Given the description of an element on the screen output the (x, y) to click on. 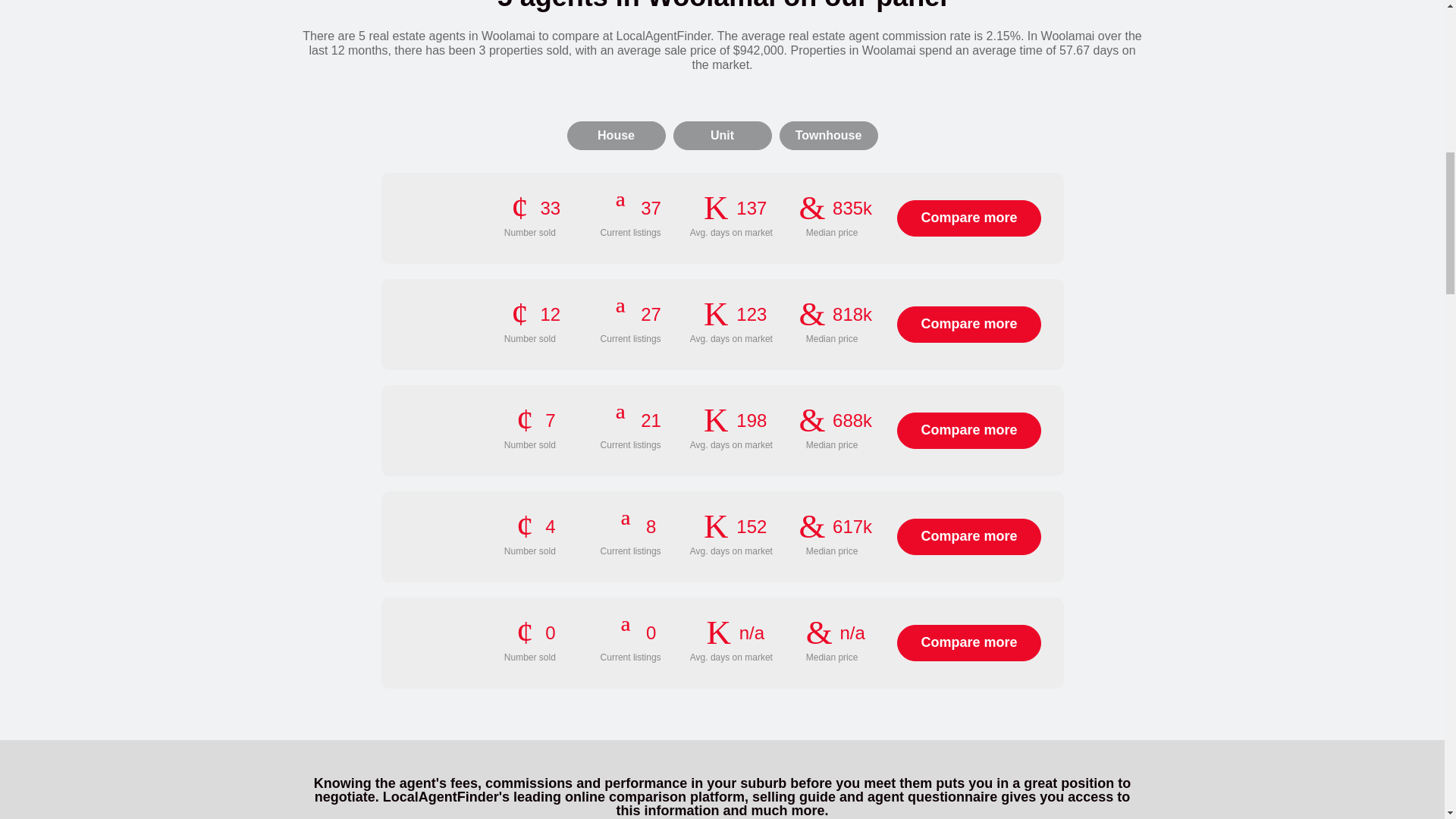
Compare more (968, 217)
Unit (721, 135)
Compare more (968, 536)
Compare more (968, 642)
Compare more (968, 324)
House (616, 135)
Townhouse (827, 135)
Compare more (968, 430)
